Given the description of an element on the screen output the (x, y) to click on. 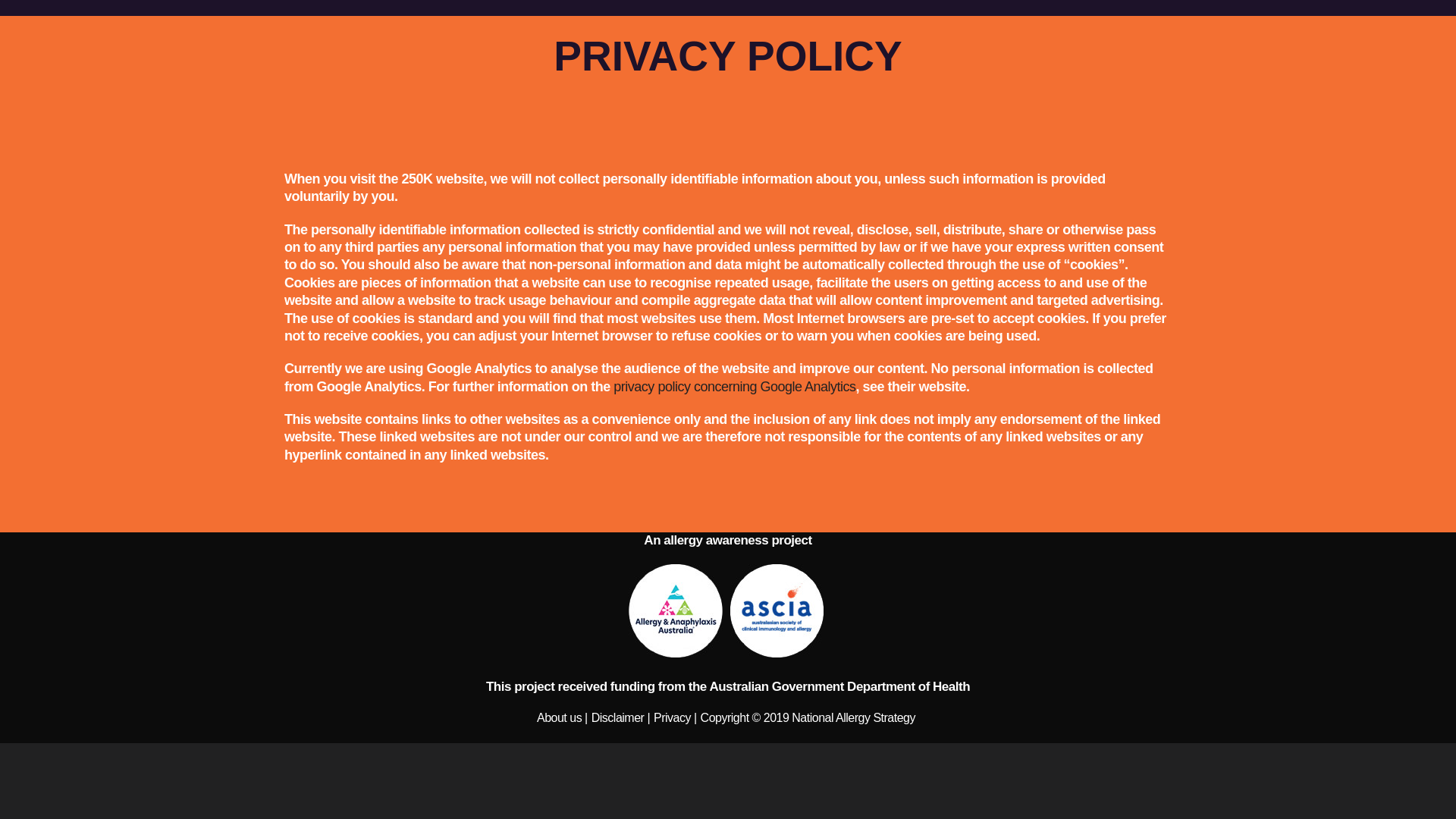
About us Element type: text (558, 717)
Privacy Element type: text (671, 717)
Disclaimer Element type: text (619, 717)
privacy policy concerning Google Analytics Element type: text (734, 386)
